Given the description of an element on the screen output the (x, y) to click on. 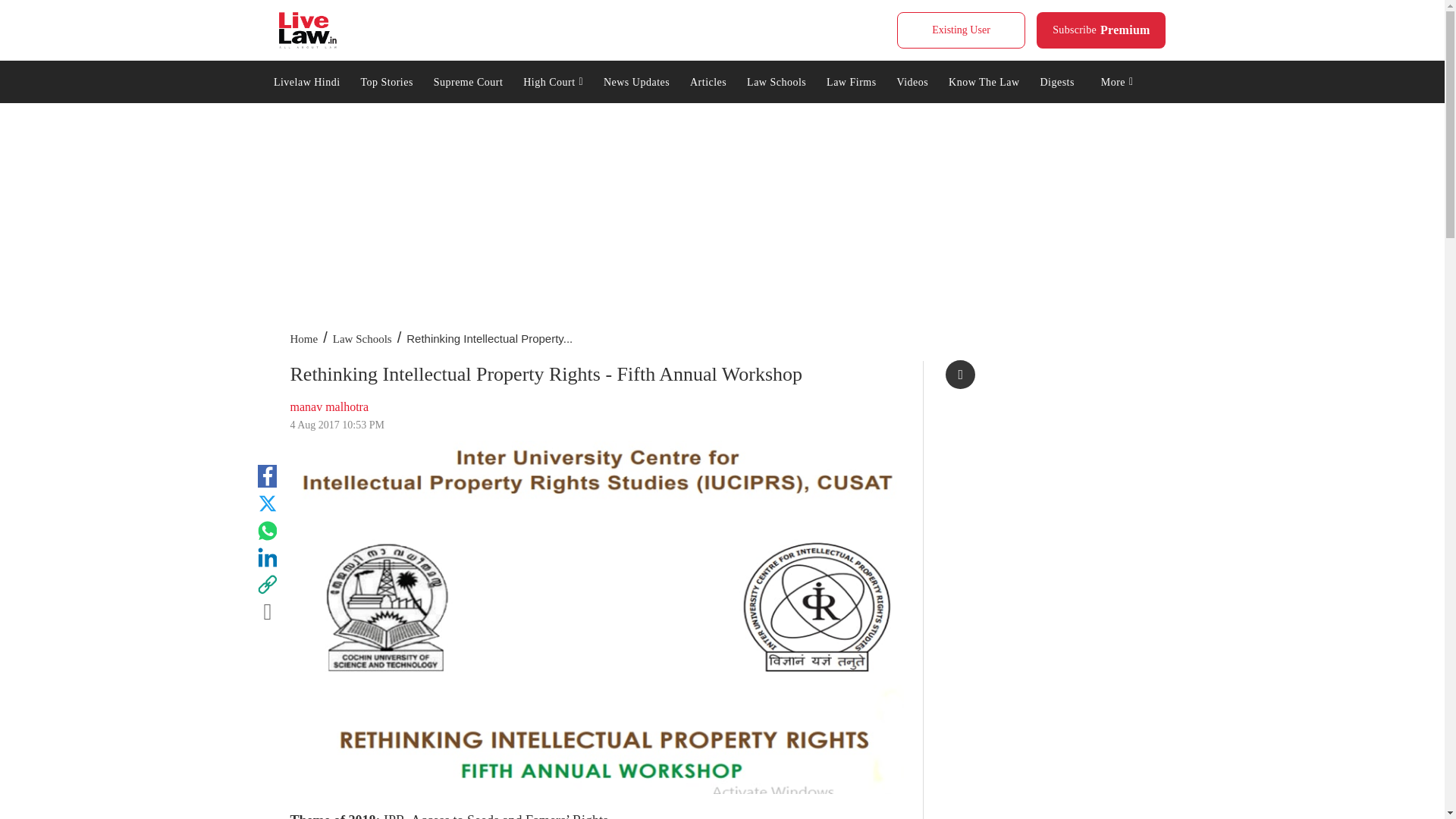
Top Stories (1101, 30)
Existing User (386, 80)
Livelaw Hindi (960, 30)
Supreme Court (306, 80)
Live Law (467, 80)
High Court (307, 30)
